Given the description of an element on the screen output the (x, y) to click on. 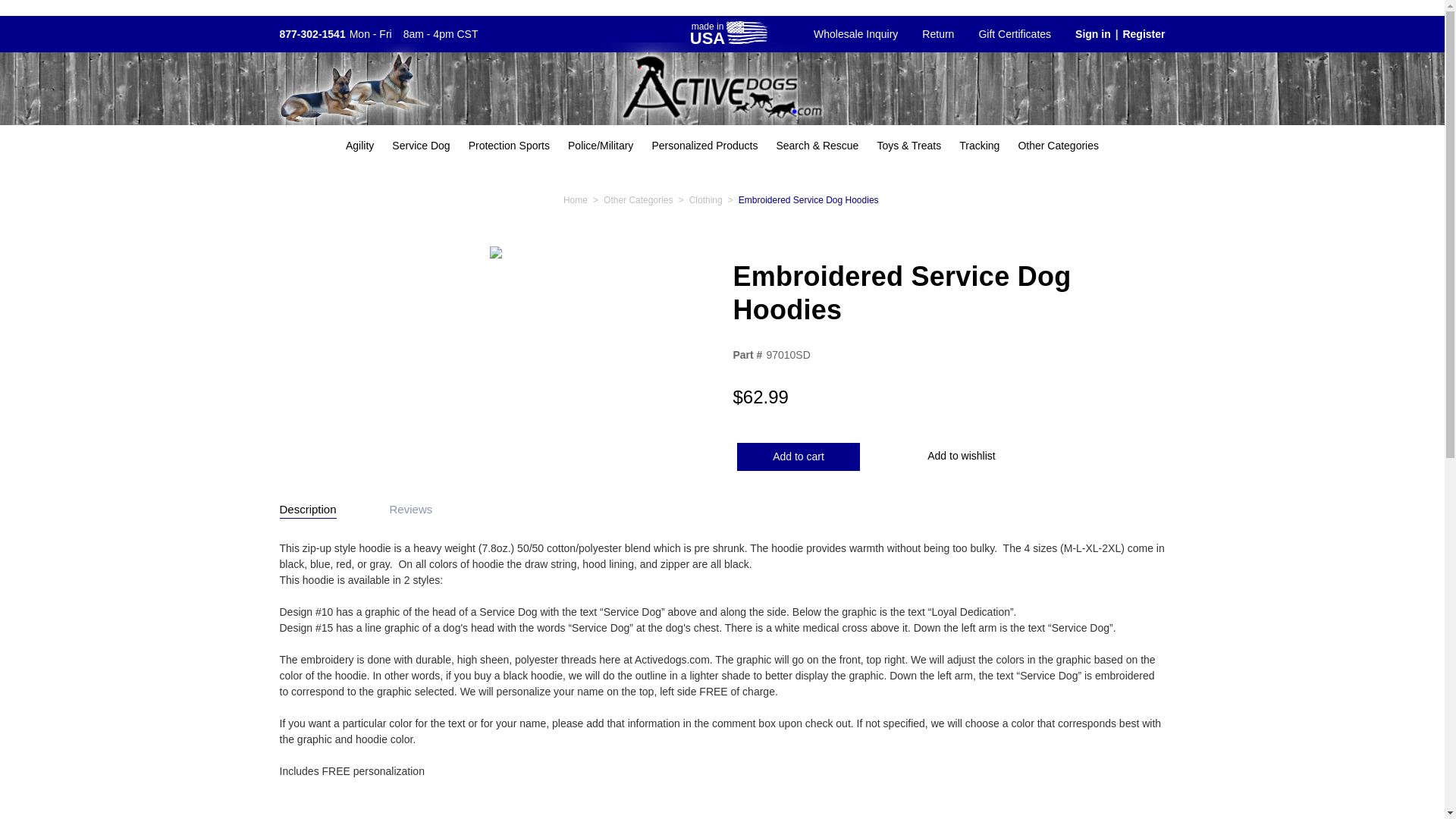
Wholesale Inquiry (856, 34)
Service Dog (420, 145)
Protection Sports (509, 145)
Register (1149, 34)
ActiveDogs.Com (721, 88)
Gift Certificates (1014, 34)
Sign in (1086, 34)
Add to cart (798, 456)
Return (938, 34)
made in USA (727, 33)
